Given the description of an element on the screen output the (x, y) to click on. 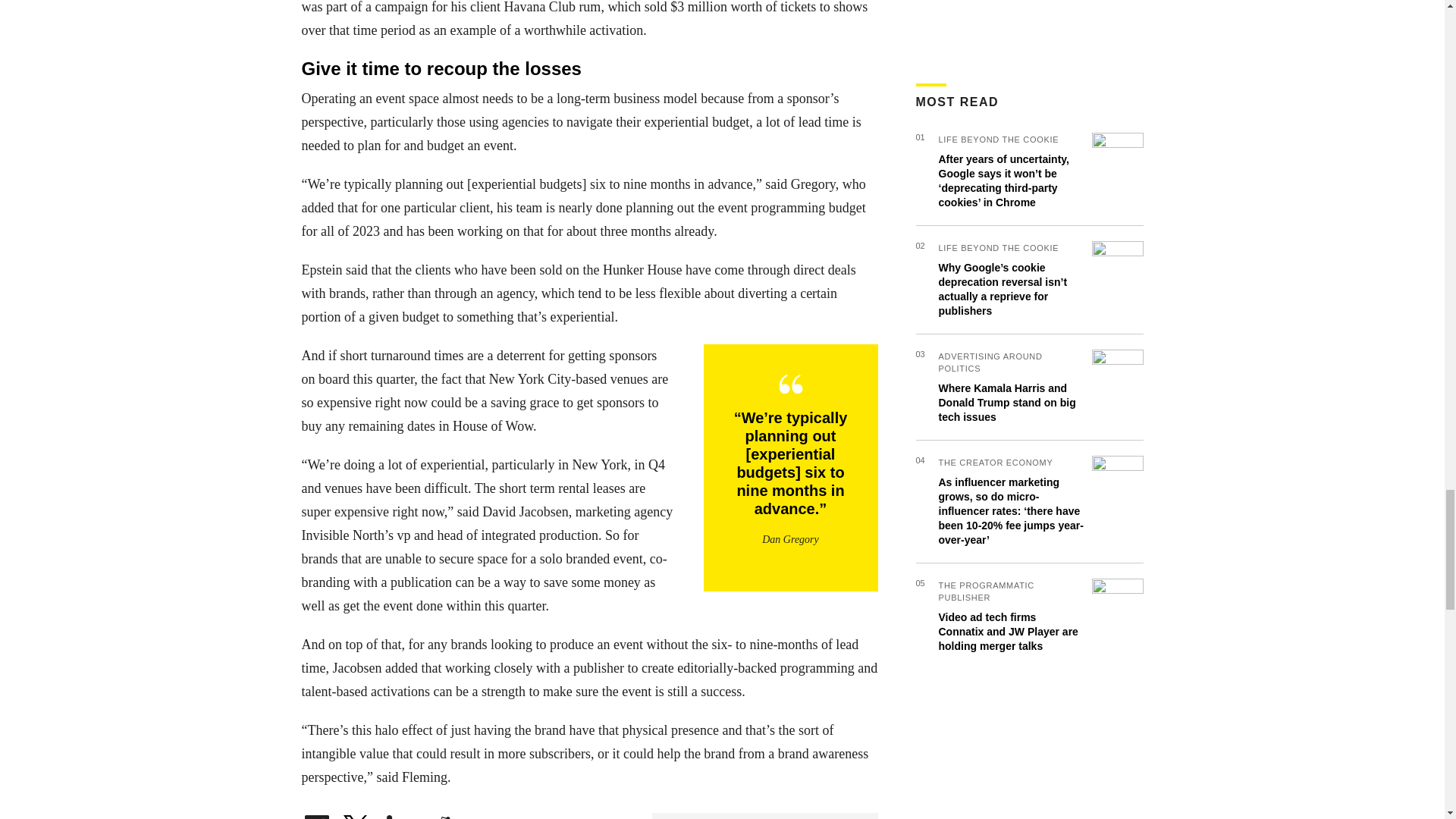
Share on Facebook (316, 817)
Share on LinkedIn (398, 817)
Share on Reddit (440, 817)
Share on Twitter (357, 817)
